Given the description of an element on the screen output the (x, y) to click on. 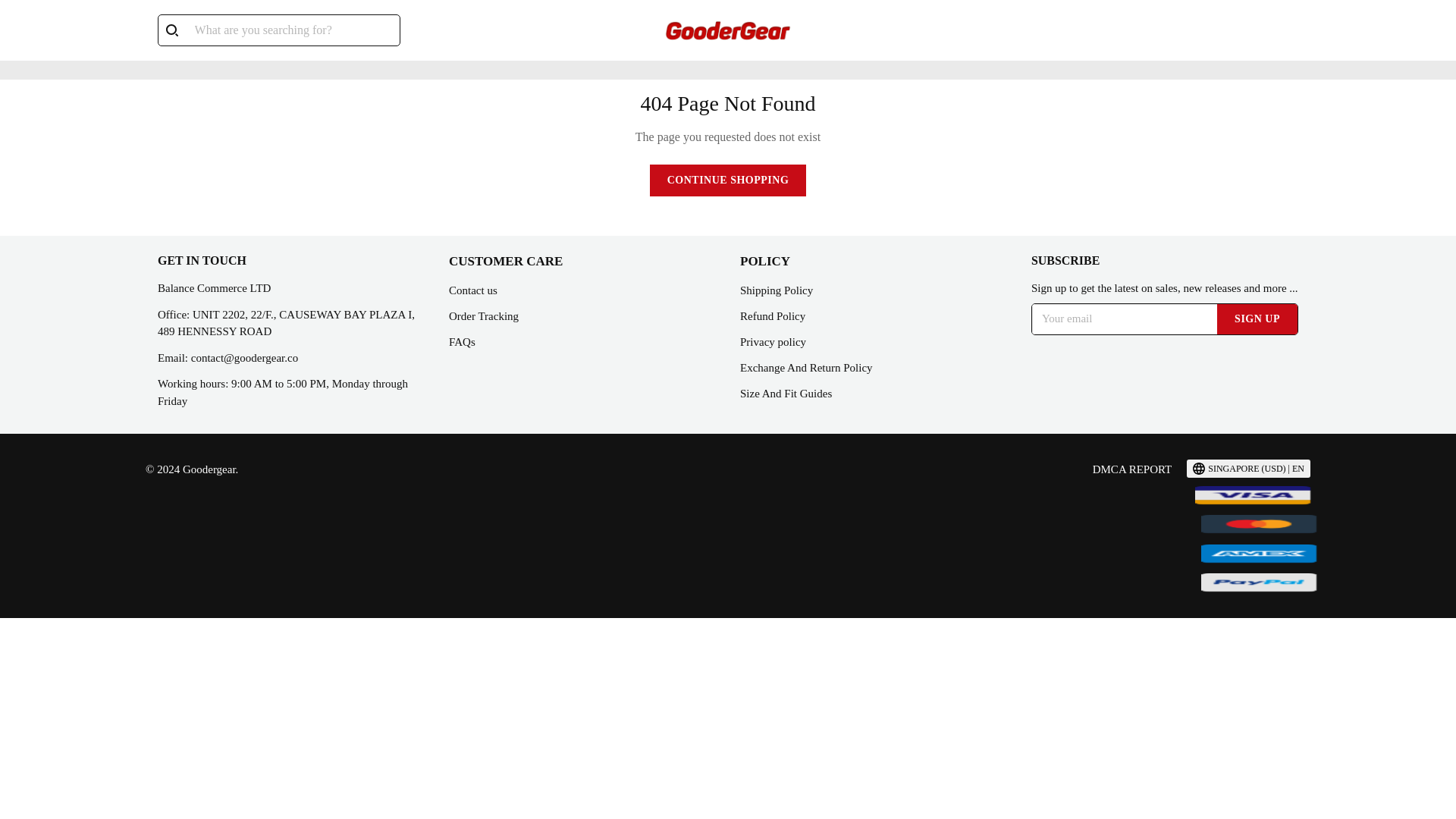
DMCA REPORT (1132, 469)
Size And Fit Guides (785, 393)
Refund Policy (772, 316)
Exchange And Return Policy (805, 367)
Contact us (472, 290)
SIGN UP (1257, 318)
Shipping Policy (775, 290)
FAQs (462, 341)
Order Tracking (483, 316)
Privacy policy (772, 341)
